Given the description of an element on the screen output the (x, y) to click on. 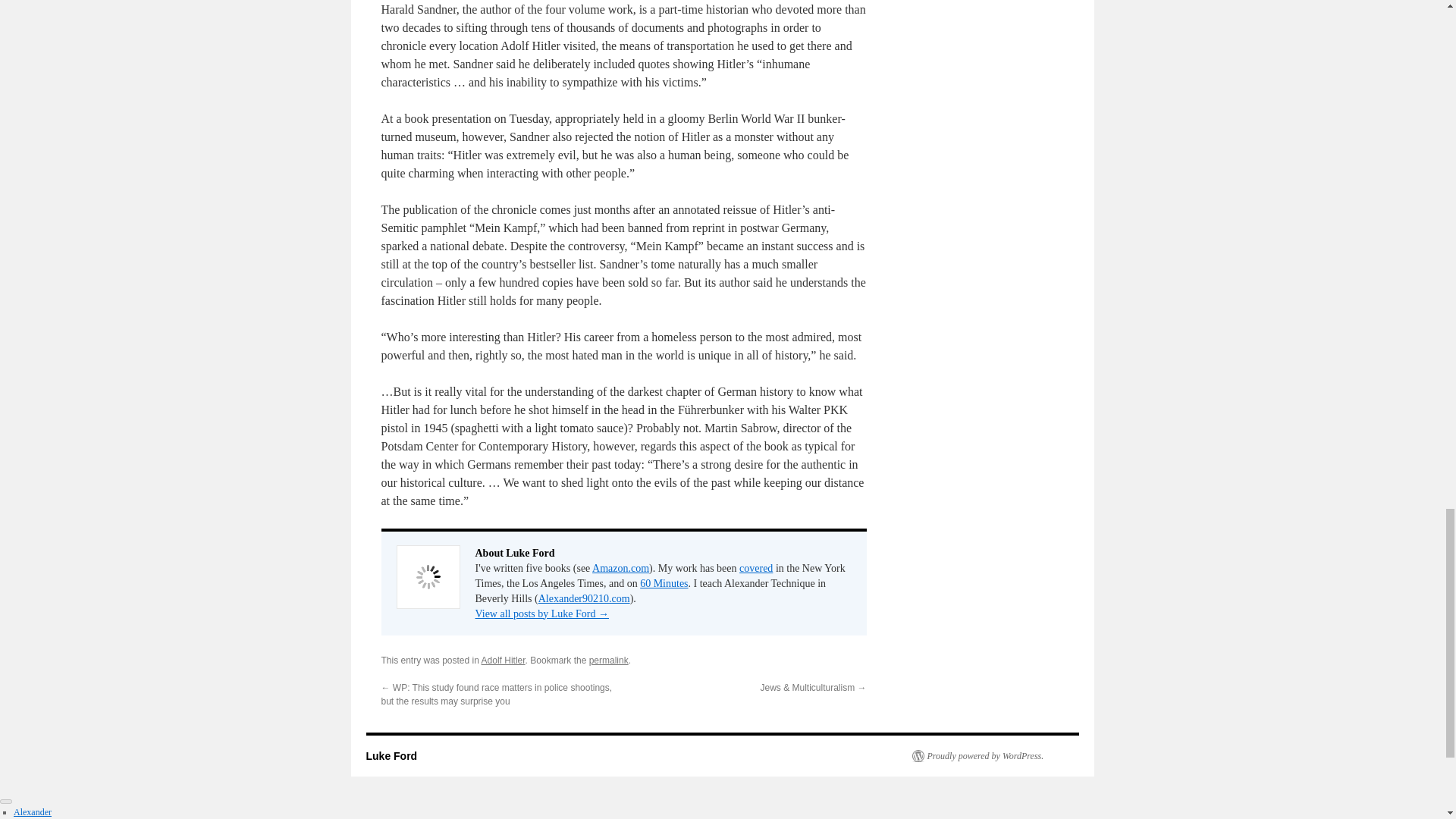
Adolf Hitler (503, 660)
60 Minutes (663, 583)
permalink (608, 660)
covered (756, 568)
Amazon.com (620, 568)
Semantic Personal Publishing Platform (977, 756)
Alexander90210.com (584, 598)
